Given the description of an element on the screen output the (x, y) to click on. 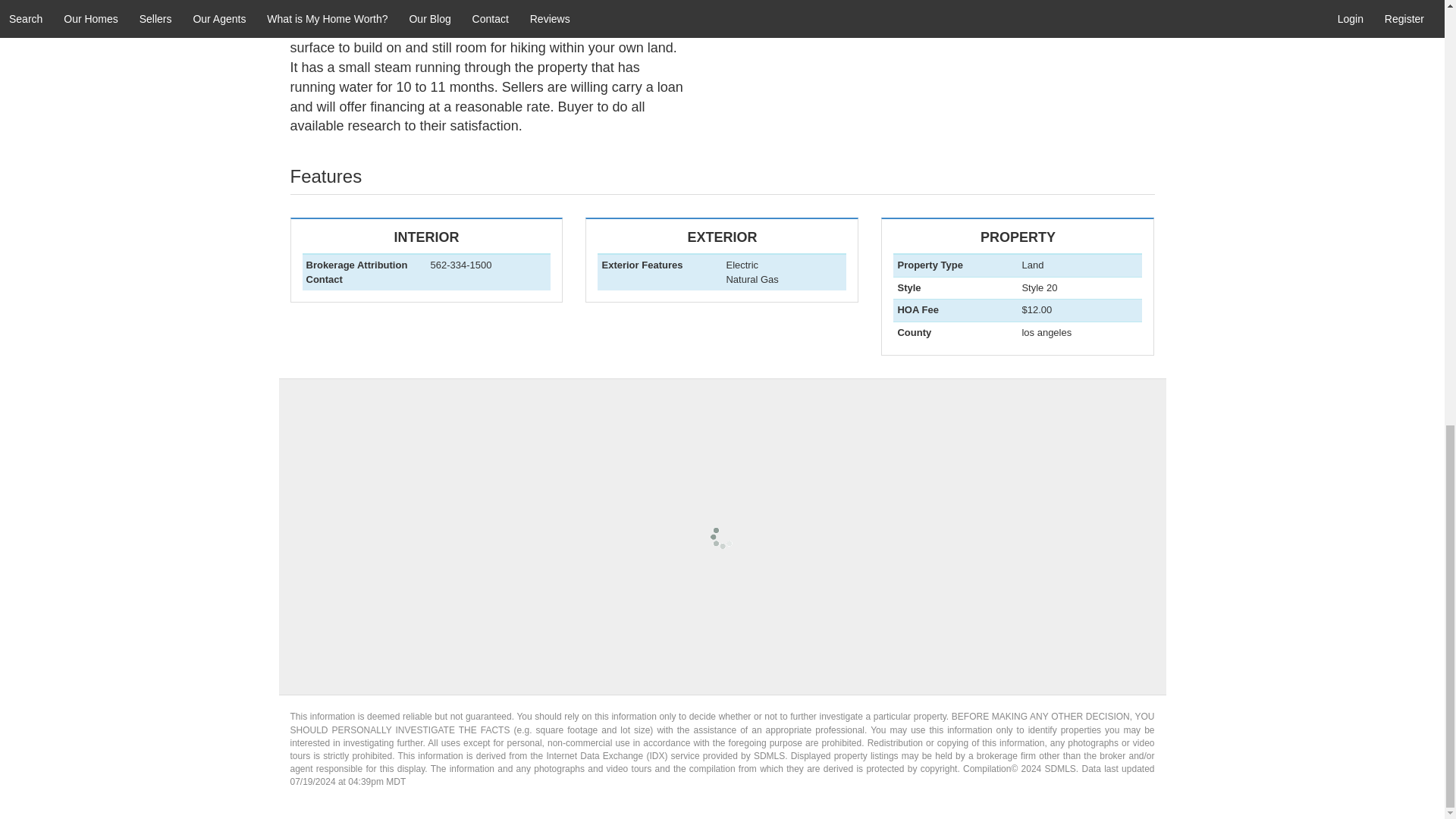
Brokerage Attribution Contact 562-334-1500 (720, 277)
Brokerage Attribution Contact 562-334-1500 (425, 259)
